Given the description of an element on the screen output the (x, y) to click on. 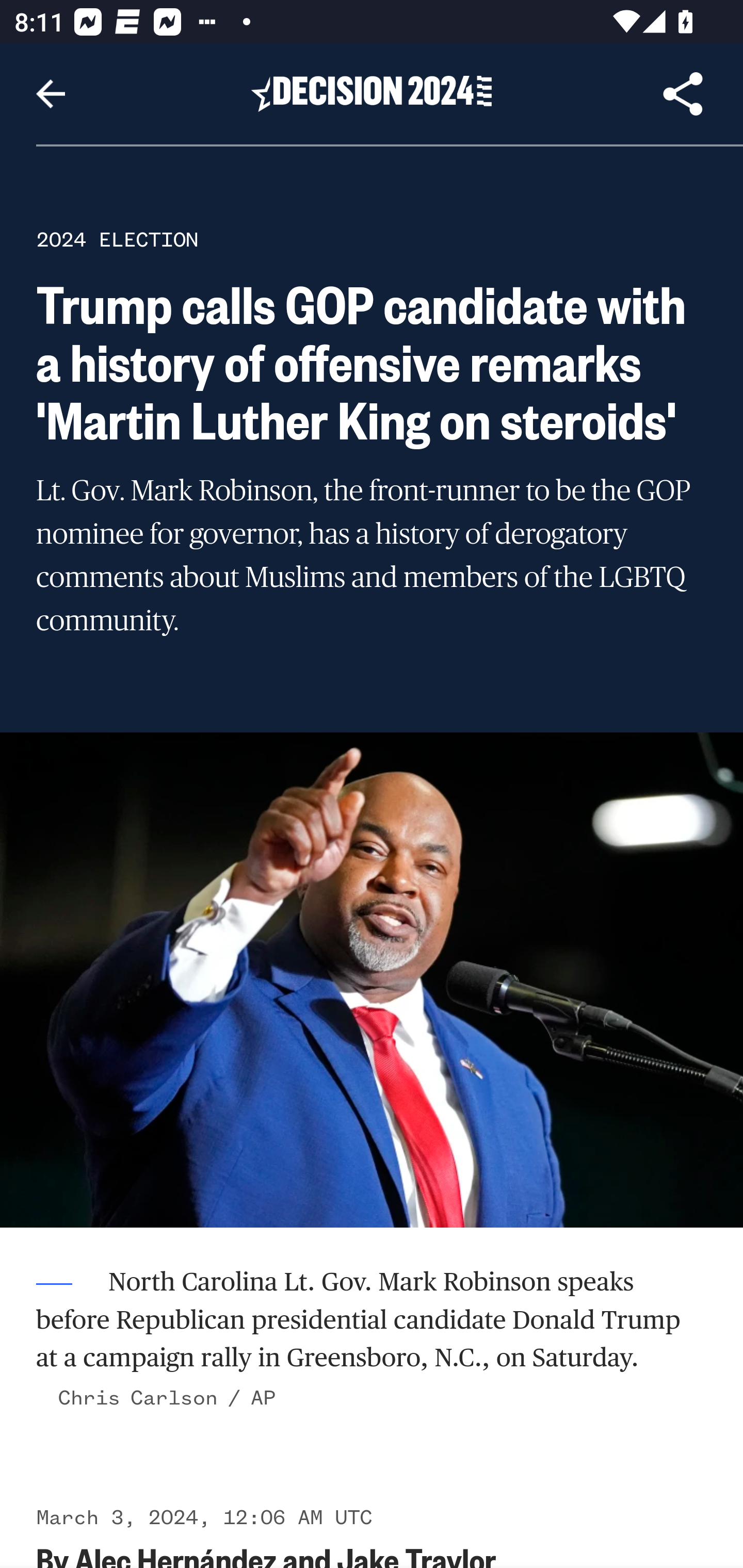
Navigate up (50, 93)
Share Article, button (683, 94)
Header, Decision 2024 (371, 93)
2024 ELECTION (117, 239)
